Given the description of an element on the screen output the (x, y) to click on. 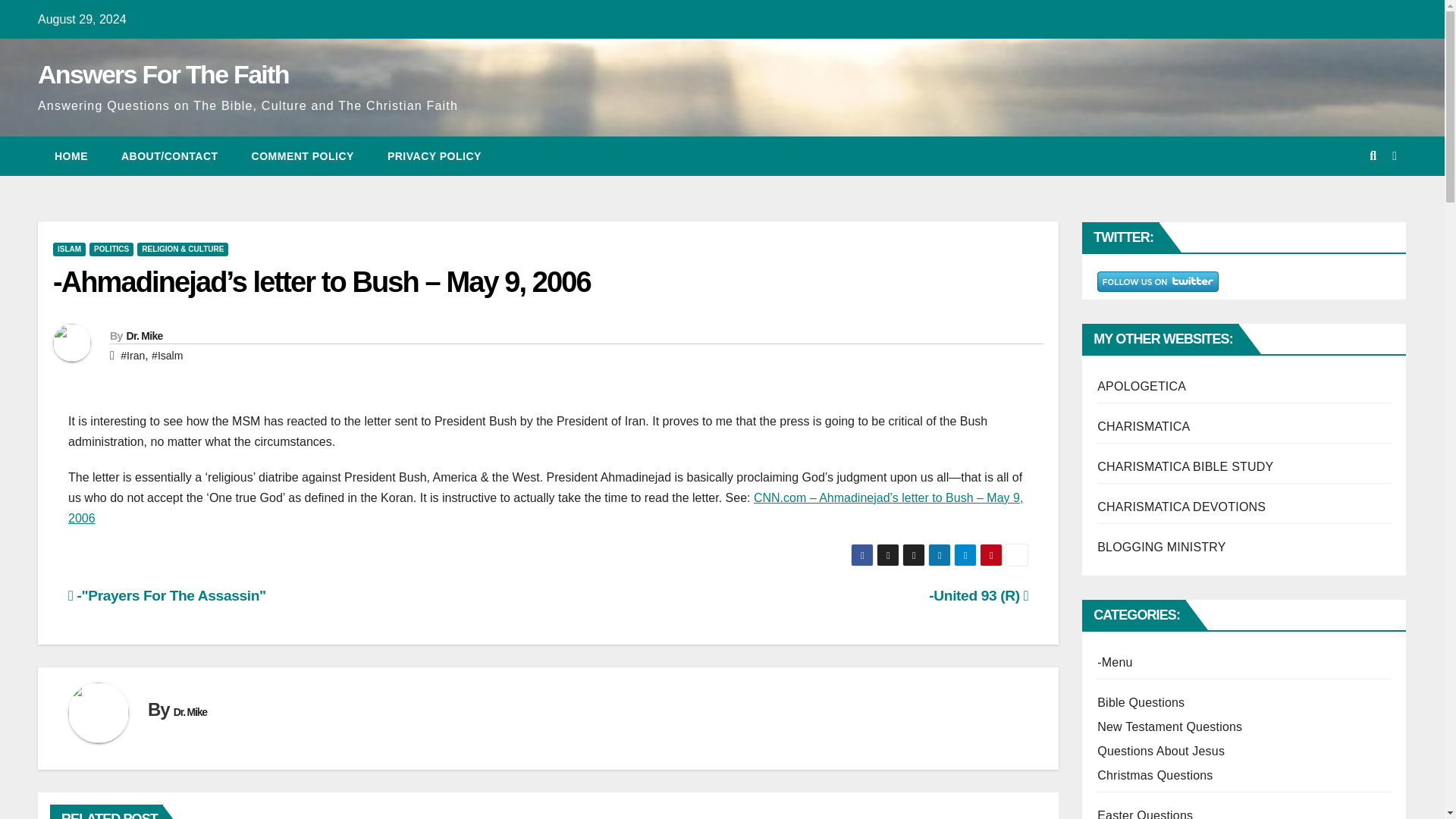
Home (70, 156)
HOME (70, 156)
-"Prayers For The Assassin" (167, 595)
ISLAM (68, 249)
Dr. Mike (189, 711)
POLITICS (110, 249)
Dr. Mike (143, 336)
PRIVACY POLICY (434, 156)
COMMENT POLICY (302, 156)
Answers For The Faith (162, 73)
